Given the description of an element on the screen output the (x, y) to click on. 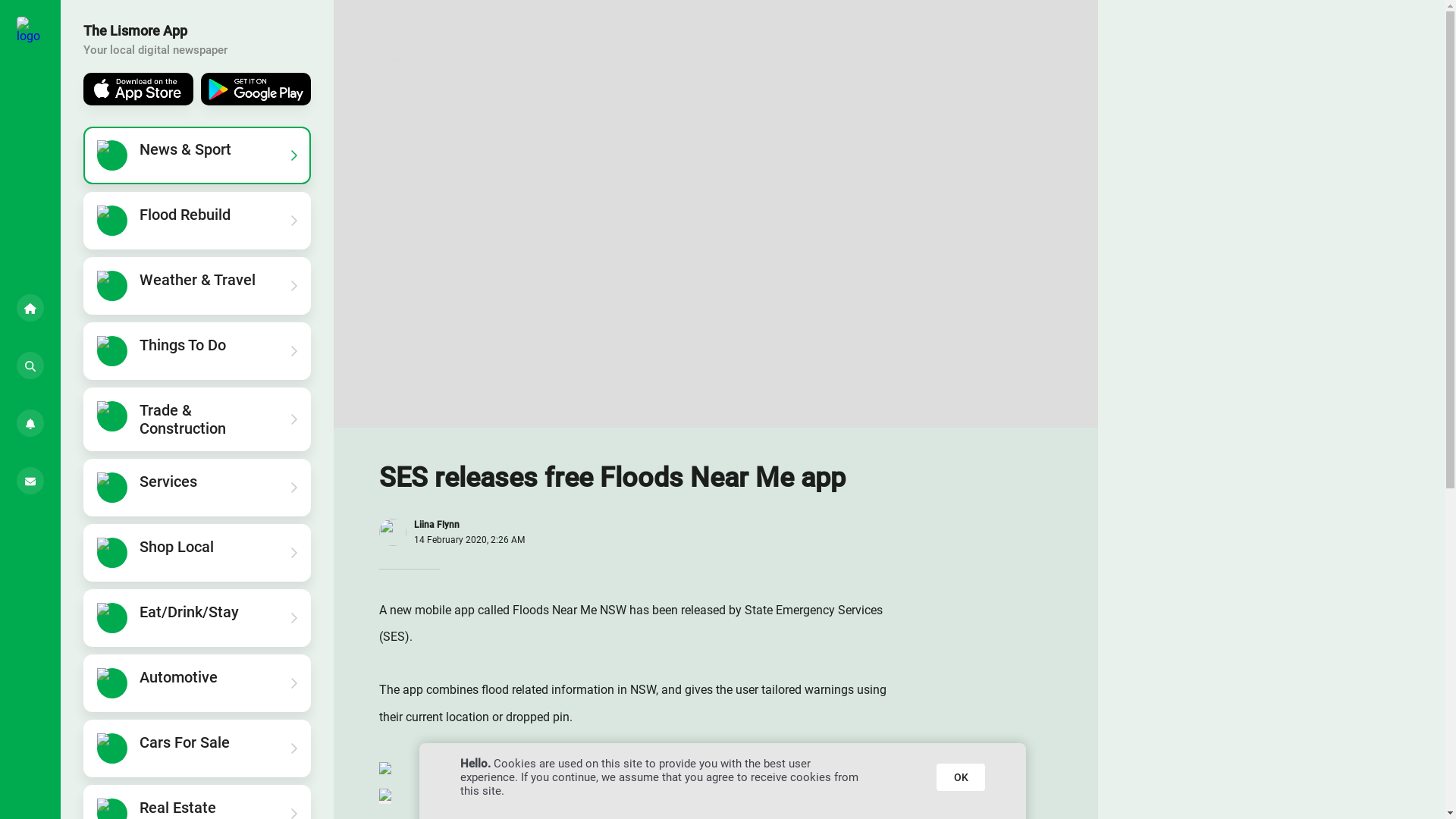
Things To Do Element type: text (196, 350)
Advertisement Element type: hover (655, 473)
Trade & Construction Element type: text (196, 419)
Services Element type: text (196, 487)
Notifications Element type: hover (29, 422)
Automotive Element type: text (196, 683)
News & Sport Element type: text (196, 155)
Home Element type: hover (29, 307)
Contact Us Element type: hover (29, 480)
Flood Rebuild Element type: text (196, 220)
OK Element type: text (959, 776)
Share Element type: text (1019, 59)
Cars For Sale Element type: text (196, 748)
Eat/Drink/Stay Element type: text (196, 617)
Search Element type: hover (29, 365)
Weather & Travel Element type: text (196, 285)
Shop Local Element type: text (196, 552)
Go Back Element type: text (417, 59)
